Given the description of an element on the screen output the (x, y) to click on. 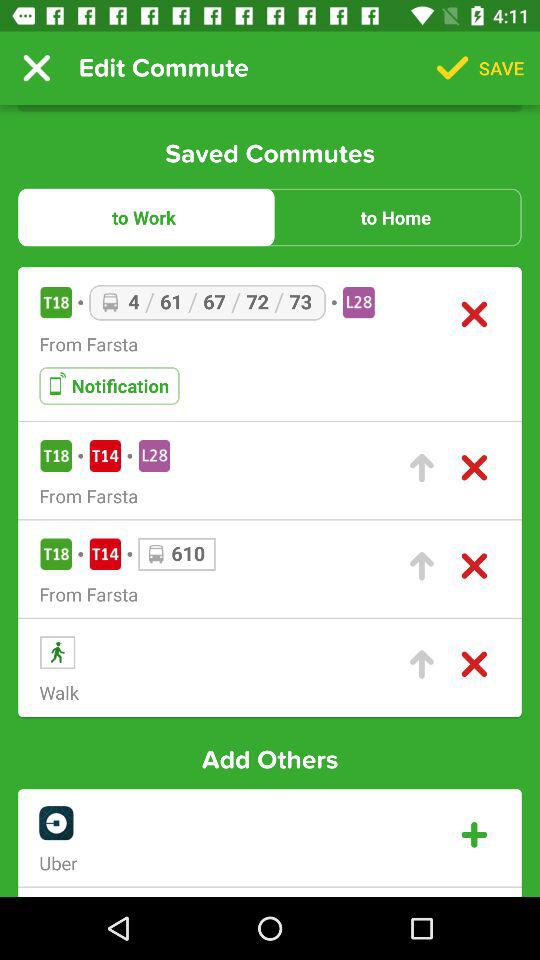
turn on item below the saved commutes (144, 217)
